Given the description of an element on the screen output the (x, y) to click on. 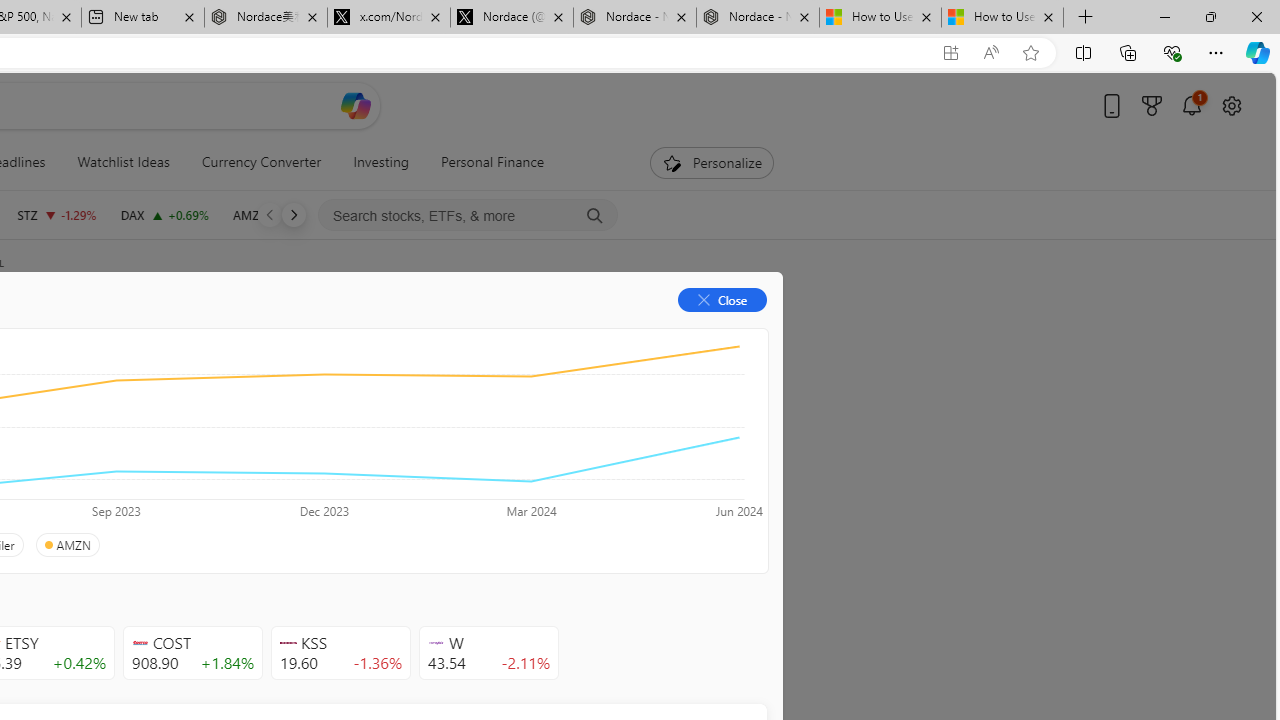
Open Copilot (355, 105)
Investors (495, 331)
x.com/NordaceOfficial (388, 17)
DAX DAX increase 18,811.34 +129.53 +0.69% (164, 214)
Search stocks, ETFs, & more (468, 215)
Analysis (305, 331)
